Given the description of an element on the screen output the (x, y) to click on. 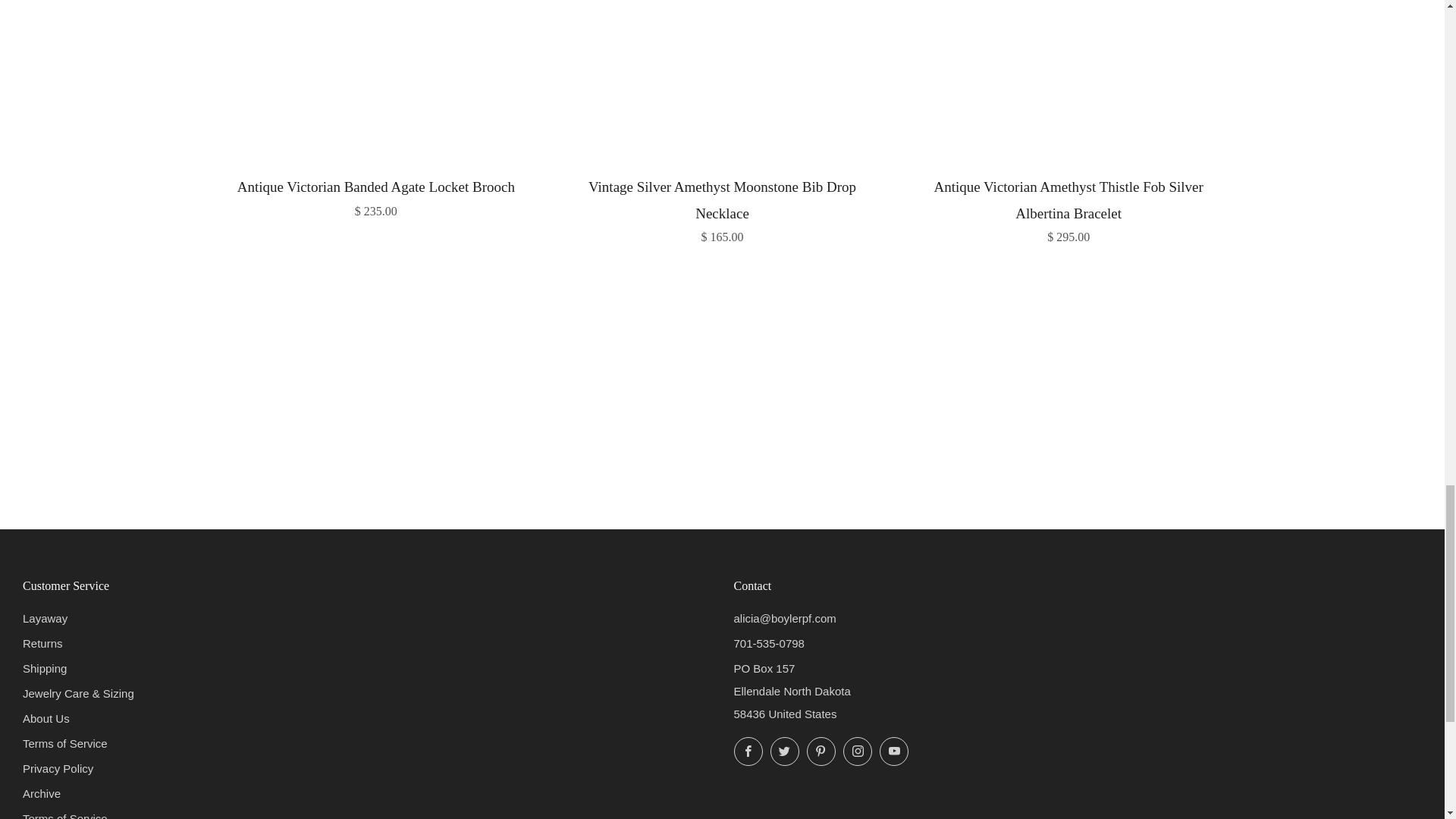
Antique Victorian Banded Agate Locket Brooch (376, 195)
Vintage Silver Amethyst Moonstone Bib Drop Necklace (721, 208)
